Given the description of an element on the screen output the (x, y) to click on. 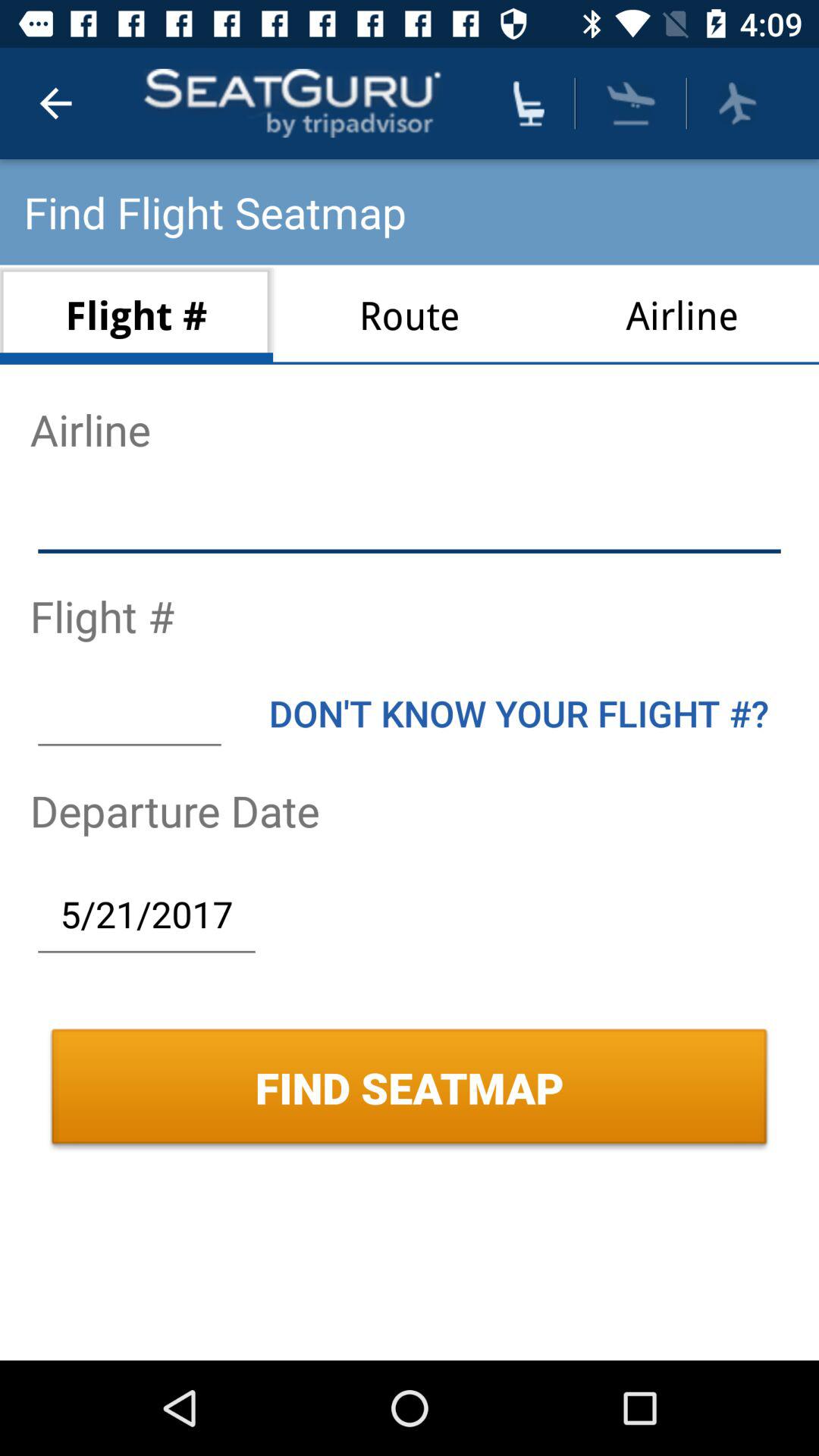
choose item to the right of flight # item (409, 314)
